Given the description of an element on the screen output the (x, y) to click on. 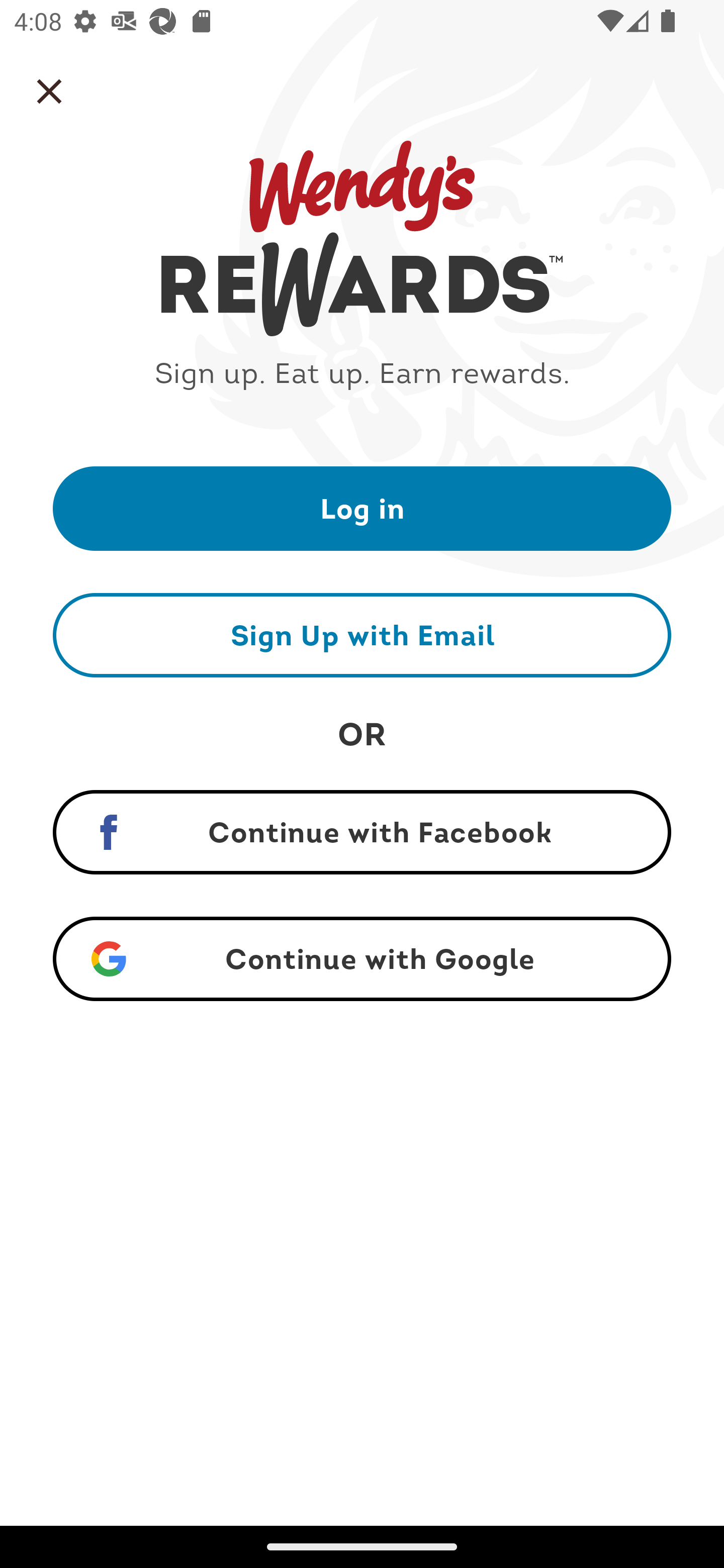
Navigate up (49, 91)
Log in (361, 507)
Sign Up with Email (361, 634)
Continue with Facebook (361, 832)
Continue with Google (361, 958)
